Given the description of an element on the screen output the (x, y) to click on. 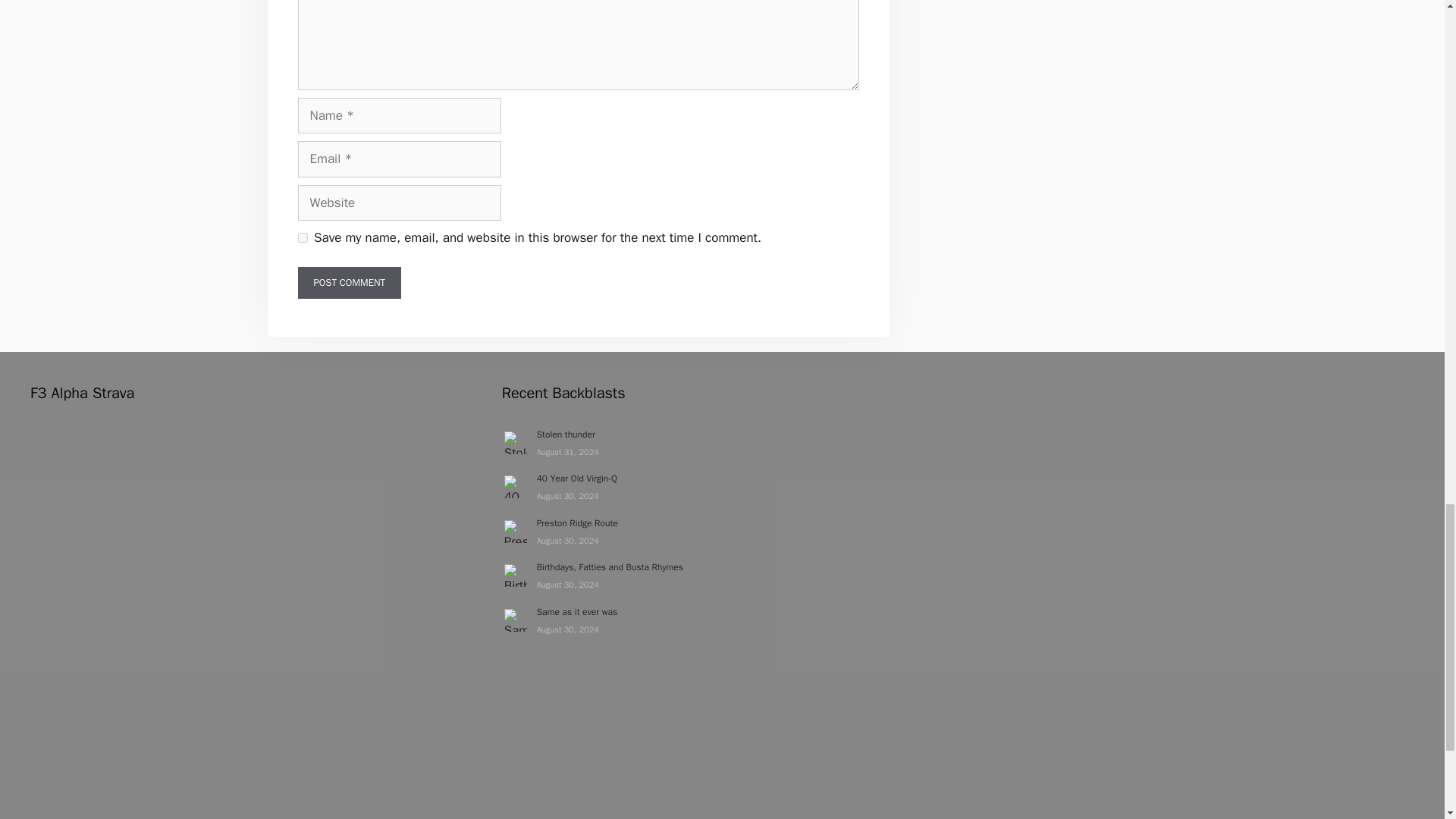
yes (302, 237)
Post Comment (349, 282)
Post Comment (349, 282)
